Given the description of an element on the screen output the (x, y) to click on. 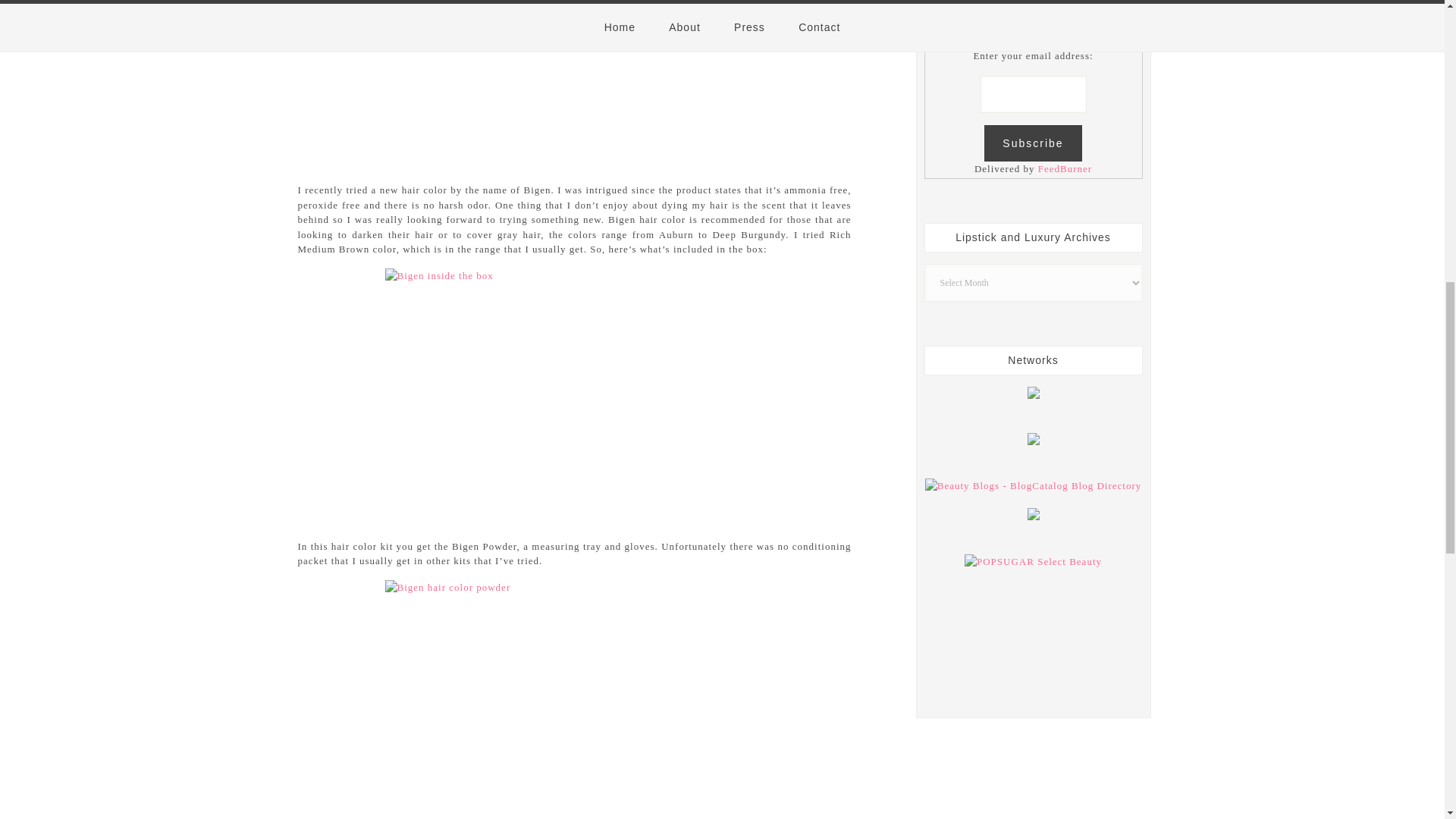
FeedBurner (1065, 168)
inside-bigen-hair-color-box (574, 394)
bigen-hair-color-powder (574, 699)
Subscribe (1032, 143)
Beauty Blogs - BlogCatalog Blog Directory (1032, 485)
Subscribe (1032, 143)
bigen-permanent-powder-hair-color (574, 82)
